Given the description of an element on the screen output the (x, y) to click on. 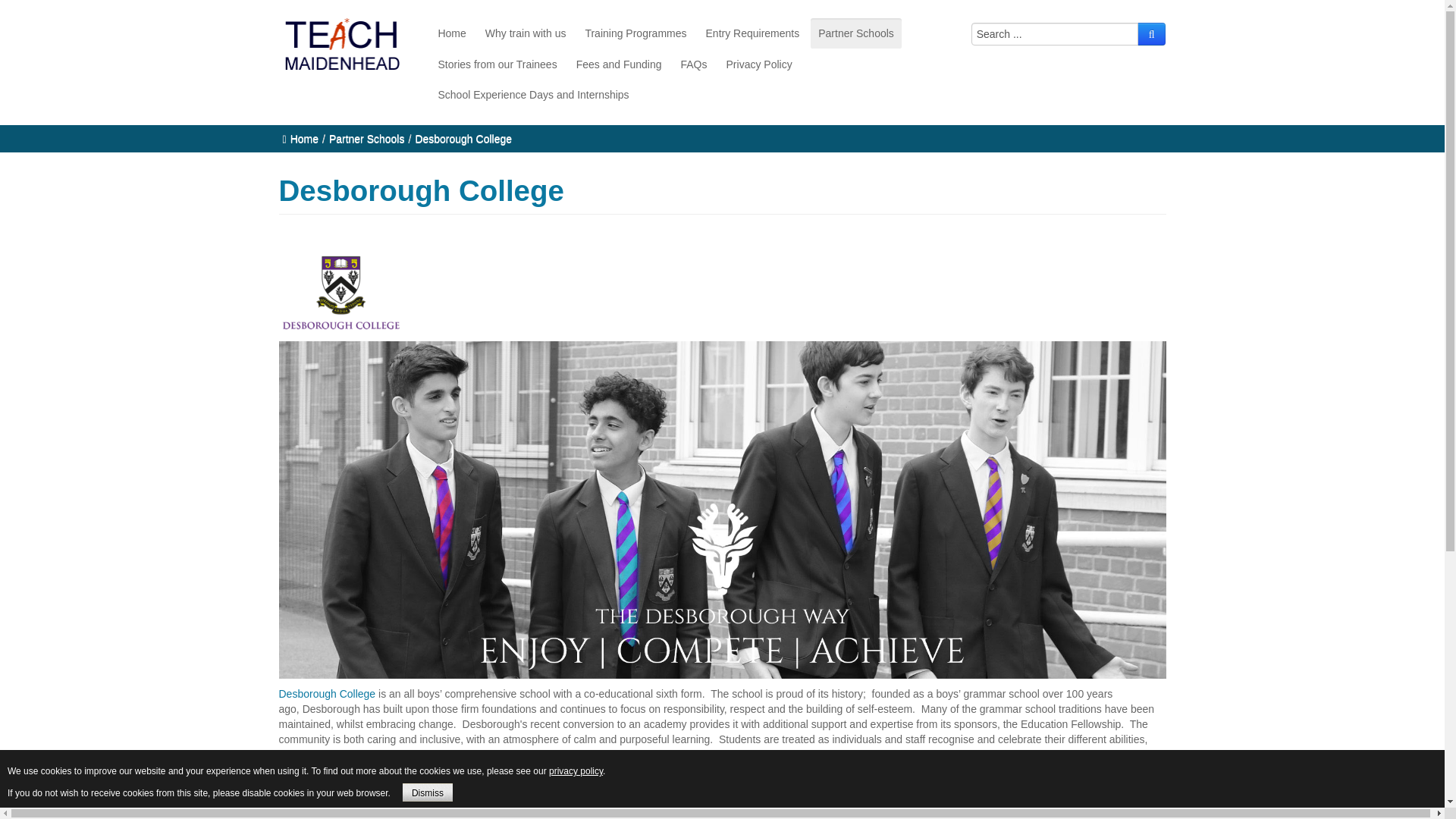
School Experience Days and Internships (532, 94)
Search ... (1054, 33)
Fees and Funding (619, 64)
Why train with us (525, 33)
Privacy Policy (759, 64)
Partner Schools (855, 33)
Entry Requirements (753, 33)
You are here:  (283, 138)
Home (303, 138)
Home (451, 33)
View our privacy policy page (575, 770)
Training Programmes (635, 33)
FAQs (693, 64)
Stories from our Trainees (496, 64)
